Given the description of an element on the screen output the (x, y) to click on. 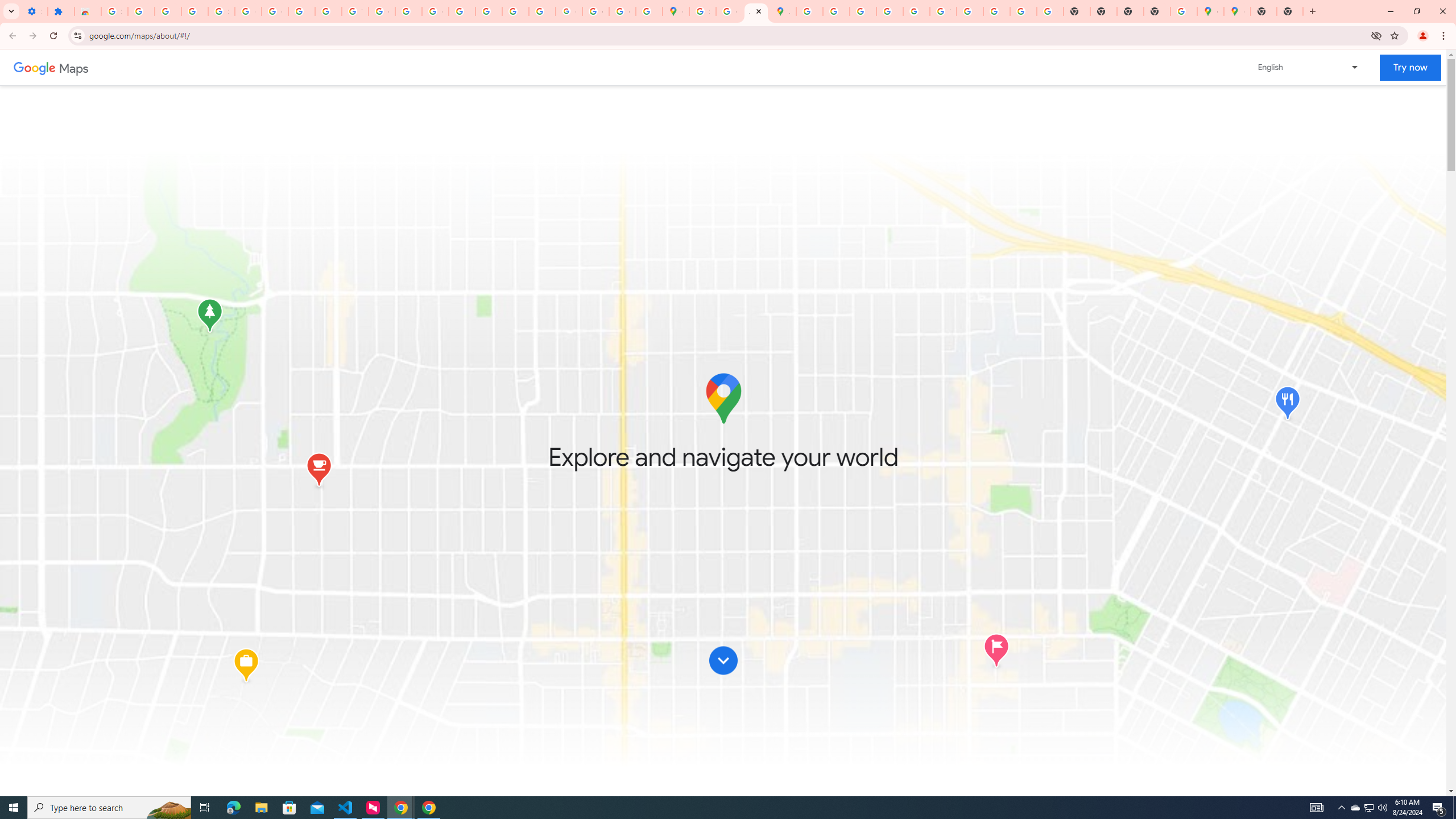
https://scholar.google.com/ (408, 11)
Policy Accountability and Transparency - Transparency Center (809, 11)
Google Maps (1210, 11)
Sign in - Google Accounts (221, 11)
Maps (73, 67)
Google Maps logo (722, 398)
